Given the description of an element on the screen output the (x, y) to click on. 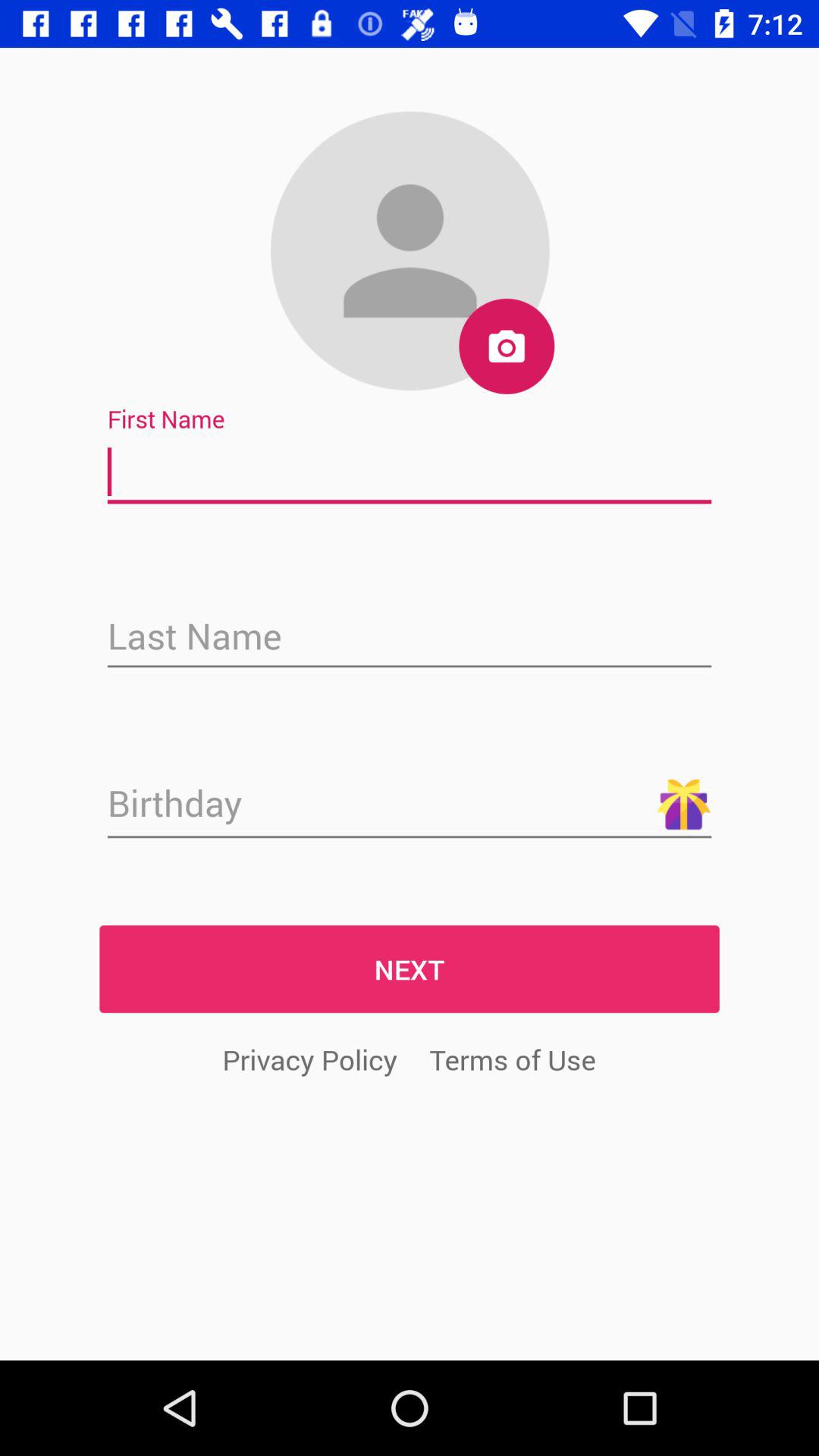
text box (409, 638)
